Given the description of an element on the screen output the (x, y) to click on. 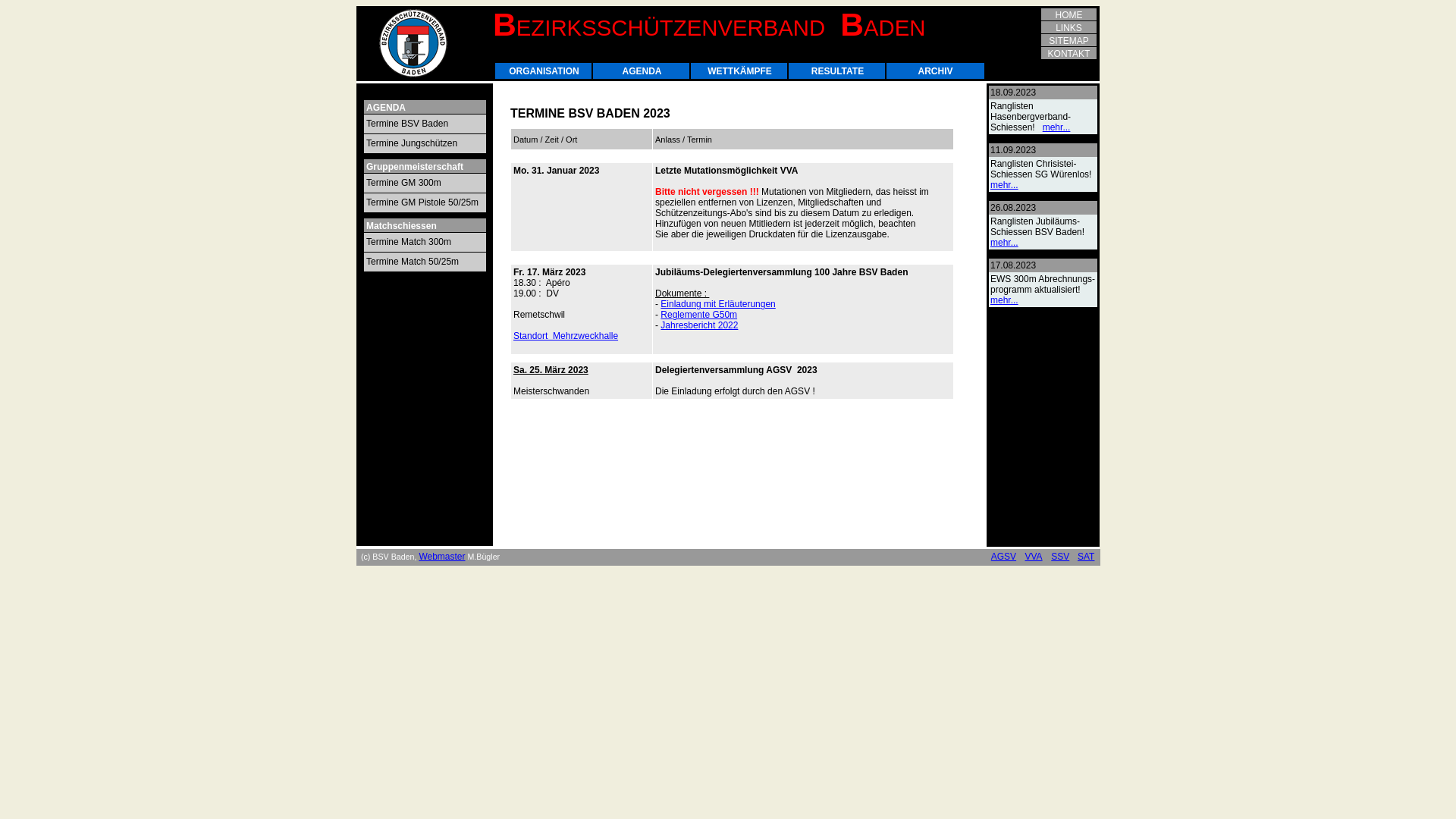
mehr... Element type: text (1056, 127)
Termine Match 50/25m Element type: text (425, 262)
SITEMAP Element type: text (1068, 40)
SSV Element type: text (1060, 556)
HOME Element type: text (1068, 14)
Termine Match 300m Element type: text (425, 242)
ORGANISATION Element type: text (543, 70)
Standort  Mehrzweckhalle Element type: text (565, 335)
Jahresbericht 2022 Element type: text (698, 325)
VVA Element type: text (1032, 556)
Termine GM Pistole 50/25m Element type: text (425, 203)
Termine GM 300m Element type: text (425, 183)
Reglemente G50m Element type: text (698, 314)
AGENDA Element type: text (640, 70)
ARCHIV Element type: text (934, 70)
mehr... Element type: text (1004, 299)
KONTAKT Element type: text (1068, 53)
mehr... Element type: text (1004, 242)
Webmaster Element type: text (441, 556)
RESULTATE Element type: text (836, 70)
LINKS Element type: text (1068, 27)
AGSV Element type: text (1003, 556)
Termine BSV Baden Element type: text (425, 124)
mehr... Element type: text (1004, 184)
SAT Element type: text (1085, 556)
